Given the description of an element on the screen output the (x, y) to click on. 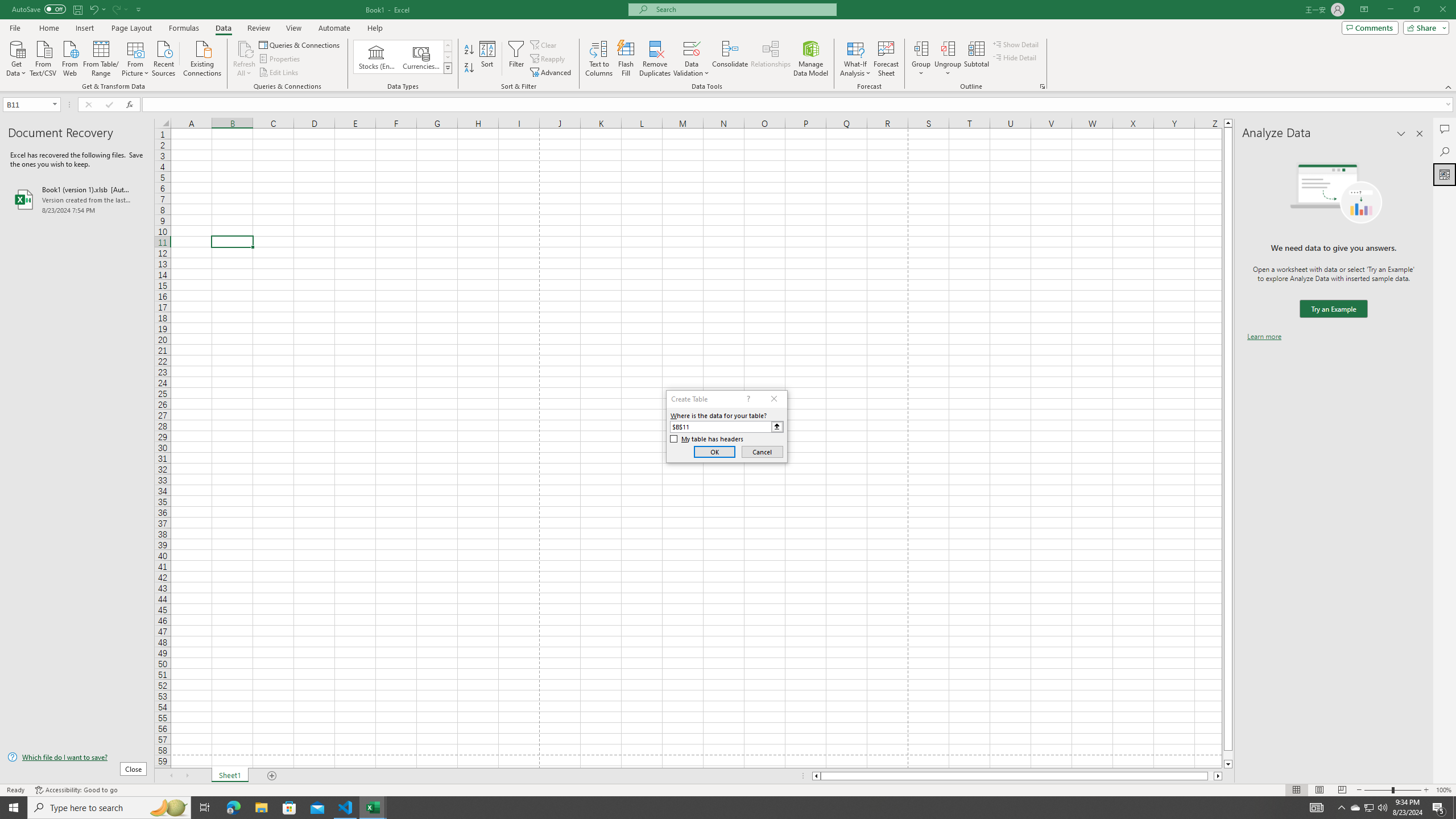
Manage Data Model (810, 58)
Flash Fill (625, 58)
From Table/Range (100, 57)
Relationships (770, 58)
Row Down (448, 56)
Clear (544, 44)
Existing Connections (202, 57)
Data Types (448, 67)
